Given the description of an element on the screen output the (x, y) to click on. 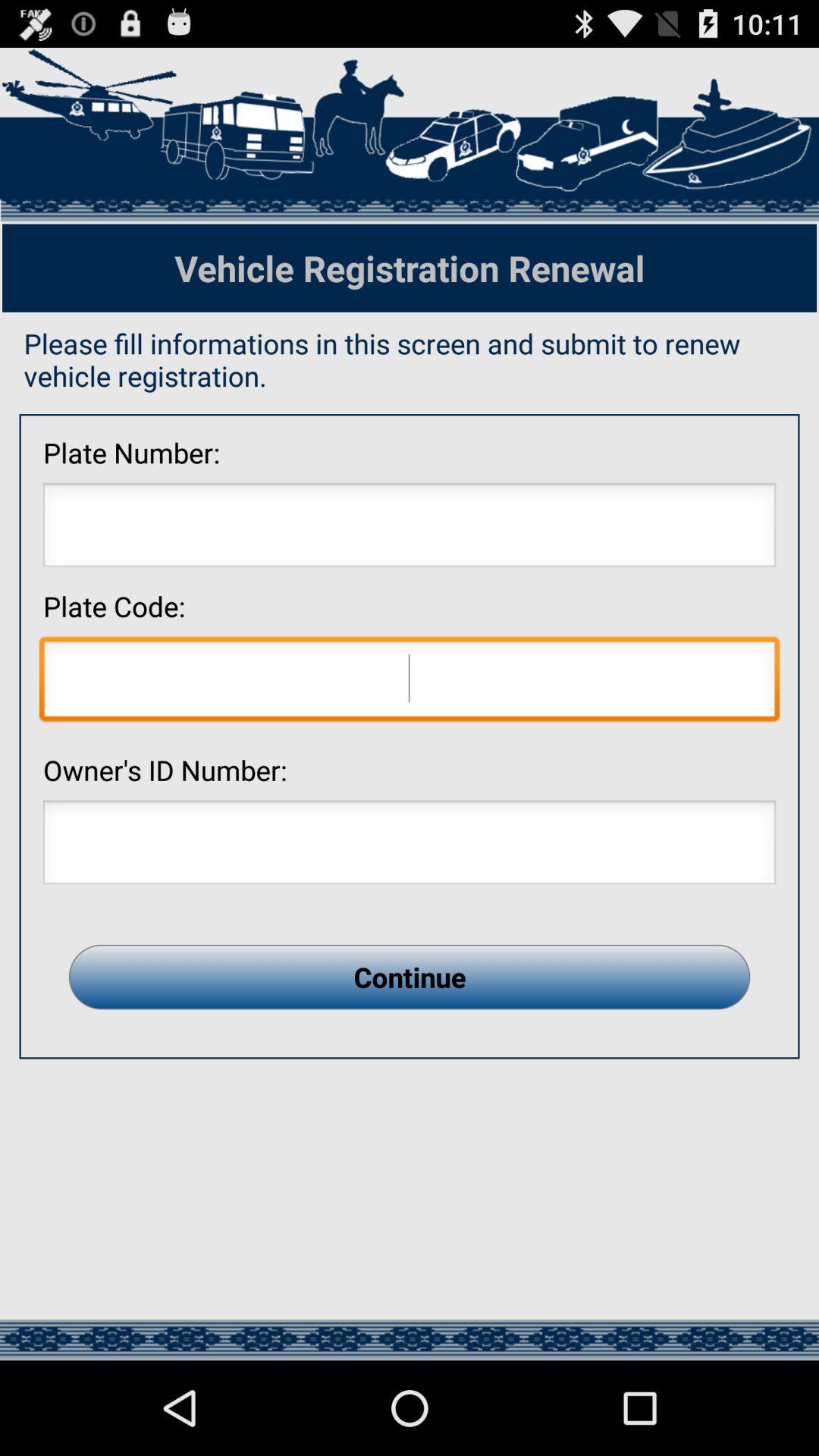
enter id number (409, 846)
